Given the description of an element on the screen output the (x, y) to click on. 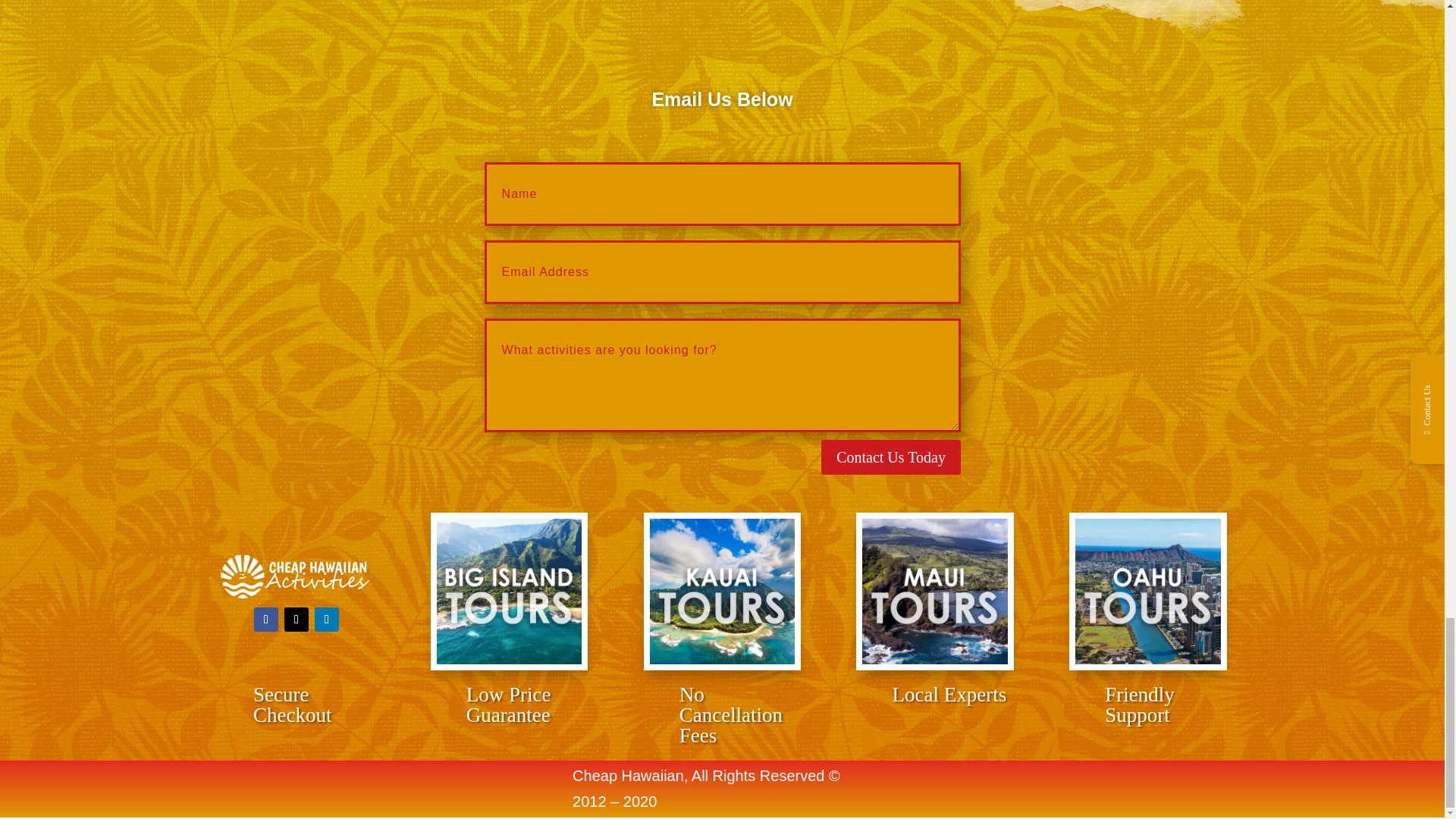
Follow on X (295, 619)
Follow on Facebook (265, 619)
Follow on LinkedIn (326, 619)
